Given the description of an element on the screen output the (x, y) to click on. 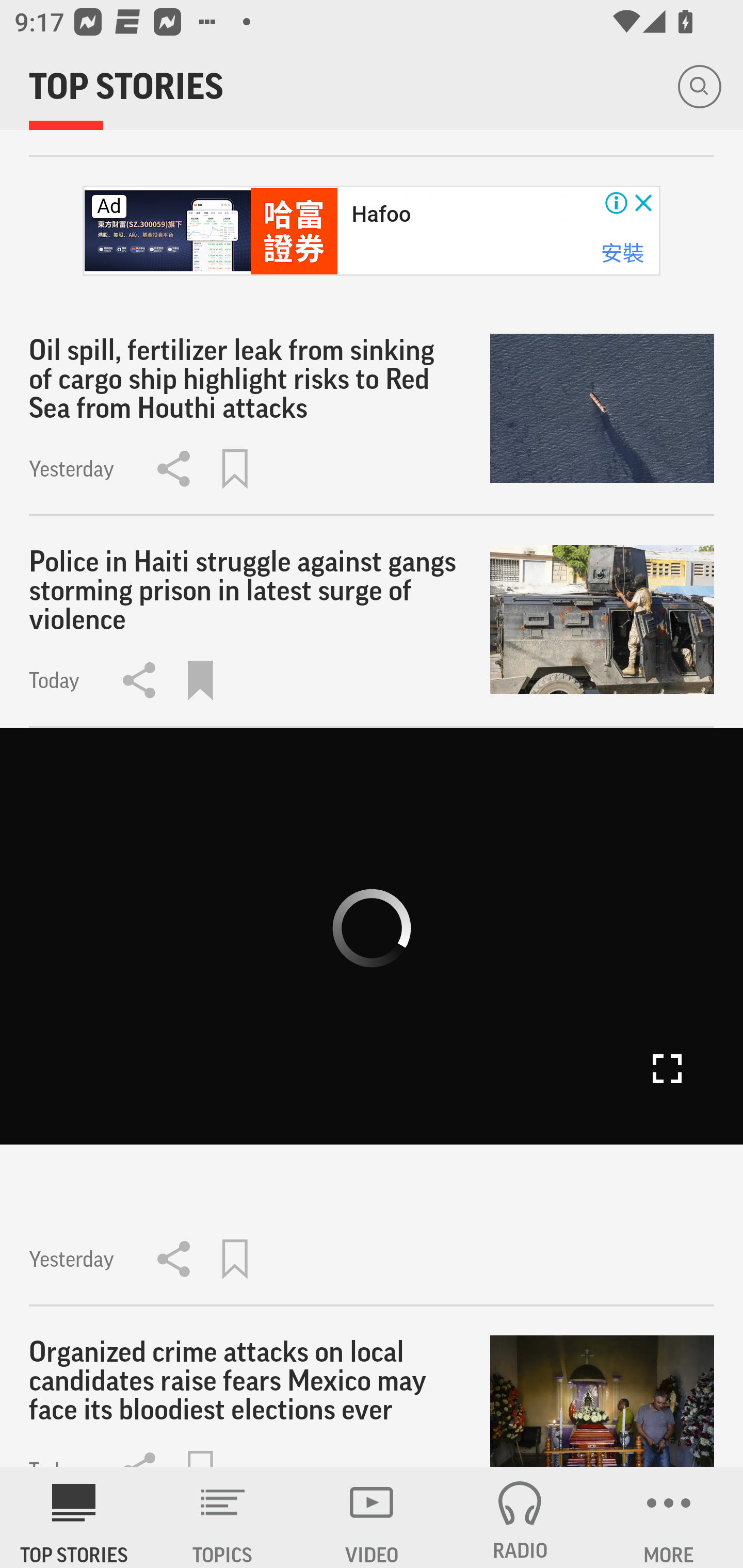
Hafoo (381, 214)
安裝 (621, 252)
toggle controls Fullscreen Yesterday (371, 1016)
Fullscreen (666, 1068)
AP News TOP STORIES (74, 1517)
TOPICS (222, 1517)
VIDEO (371, 1517)
RADIO (519, 1517)
MORE (668, 1517)
